Given the description of an element on the screen output the (x, y) to click on. 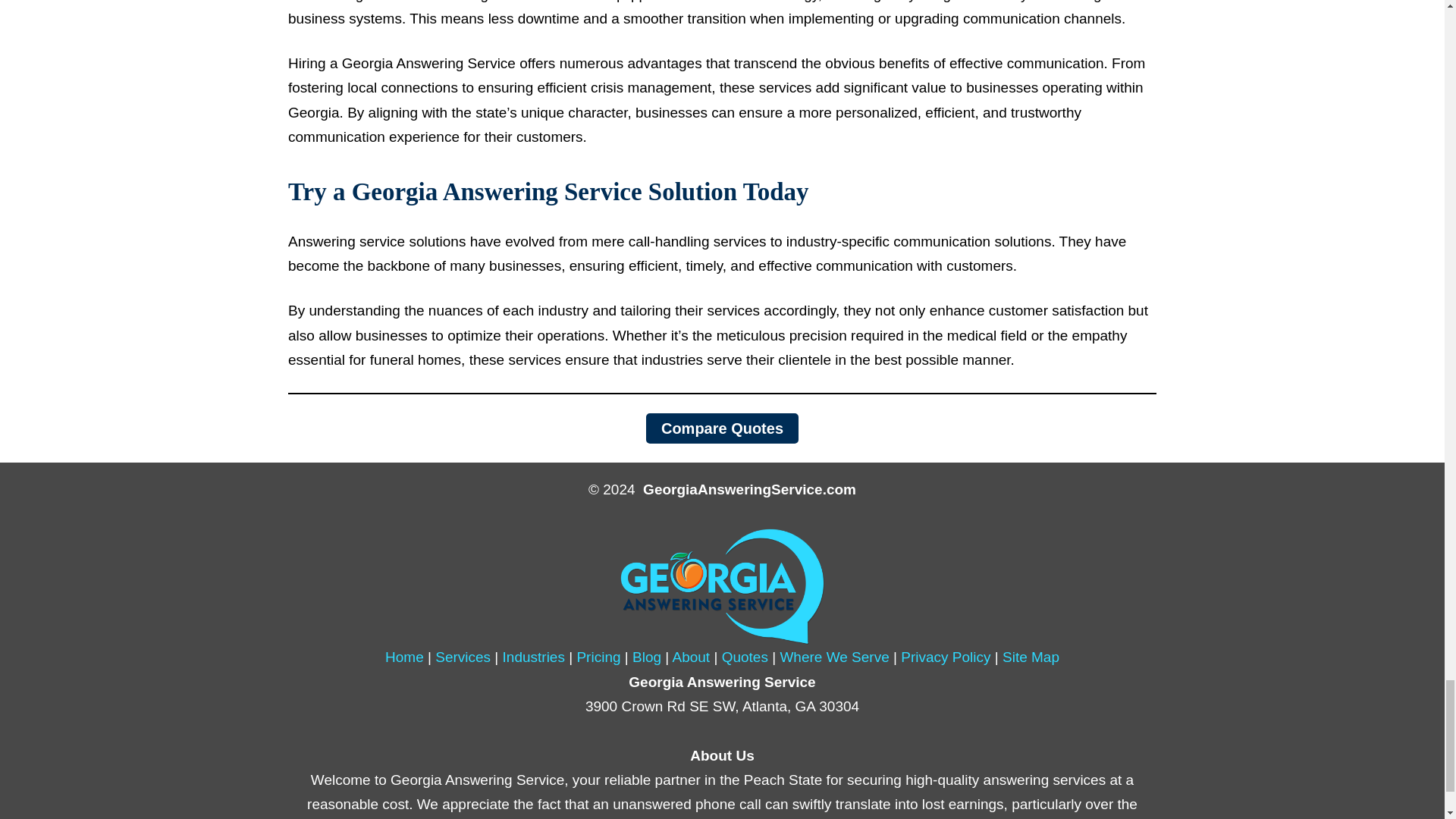
Pricing (598, 657)
Where We Serve (833, 657)
Georgia Answering Service (404, 657)
Privacy Policy (945, 657)
Georgia Answering Service (722, 585)
Industries (533, 657)
Blog (646, 657)
Services (462, 657)
Quotes (745, 657)
About (690, 657)
Site Map (1031, 657)
